Given the description of an element on the screen output the (x, y) to click on. 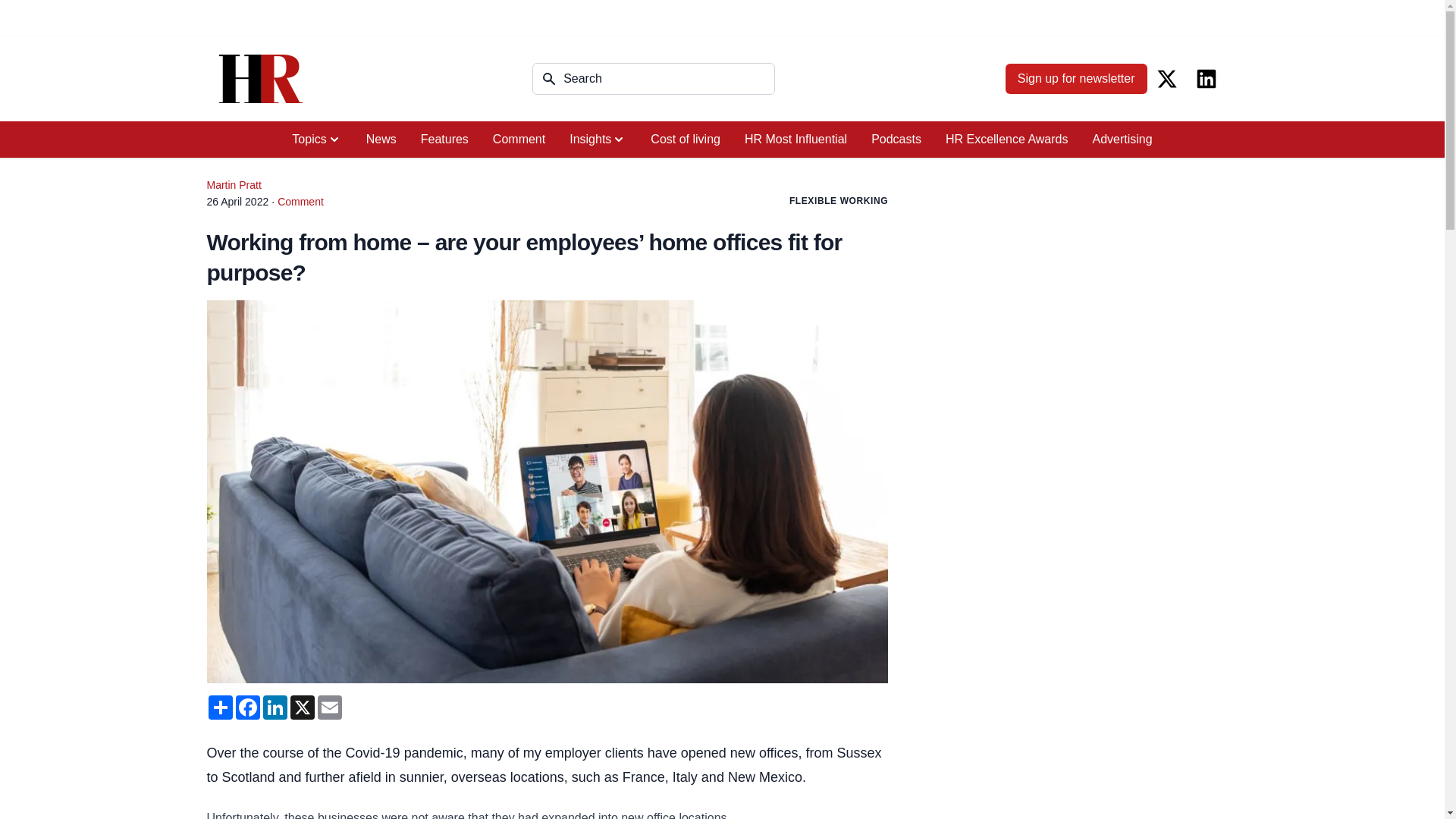
Podcasts (896, 139)
Topics (316, 139)
Insights (598, 139)
HR Most Influential (795, 139)
News (381, 139)
Comment (518, 139)
Sign up for newsletter (1076, 78)
Features (444, 139)
Cost of living (685, 139)
